Given the description of an element on the screen output the (x, y) to click on. 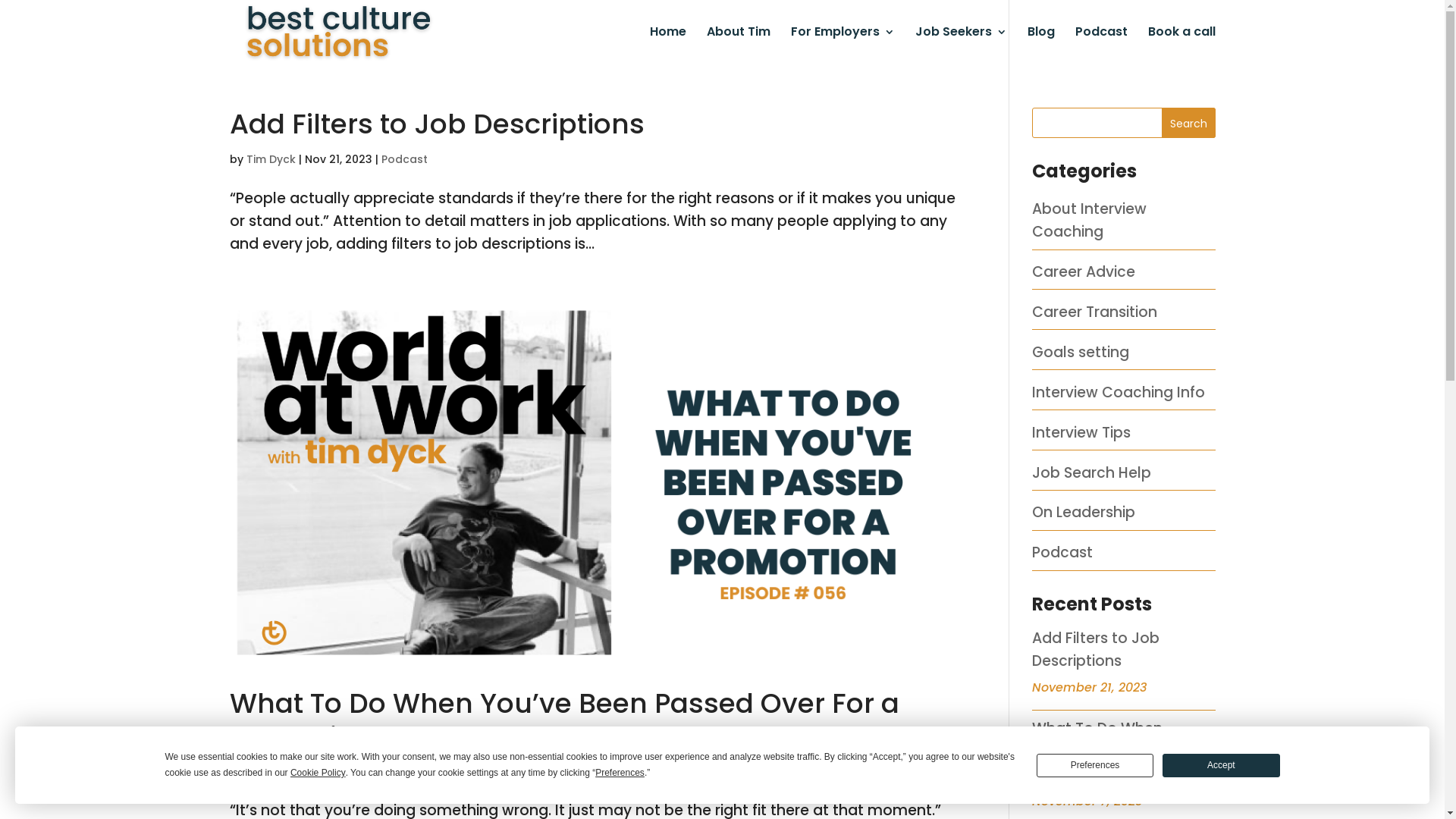
For Employers Element type: text (842, 44)
About Interview Coaching Element type: text (1089, 219)
Career Transition Element type: text (1094, 311)
Accept Element type: text (1220, 765)
Goals setting Element type: text (1080, 352)
Interview Tips Element type: text (1081, 432)
Preferences Element type: text (1094, 765)
About Tim Element type: text (738, 44)
Interview Coaching Info Element type: text (1118, 392)
Job Search Help Element type: text (1091, 472)
Job Seekers Element type: text (960, 44)
Podcast Element type: text (400, 771)
Podcast Element type: text (1101, 44)
Tim Dyck Element type: text (269, 158)
Home Element type: text (667, 44)
On Leadership Element type: text (1083, 512)
Search Element type: text (1188, 122)
Career Advice Element type: text (1083, 271)
Add Filters to Job Descriptions Element type: text (436, 123)
Podcast Element type: text (1062, 552)
Book a call Element type: text (1181, 44)
Tim Dyck Element type: text (269, 771)
Blog Element type: text (1040, 44)
Podcast Element type: text (403, 158)
Add Filters to Job Descriptions Element type: text (1095, 649)
